Given the description of an element on the screen output the (x, y) to click on. 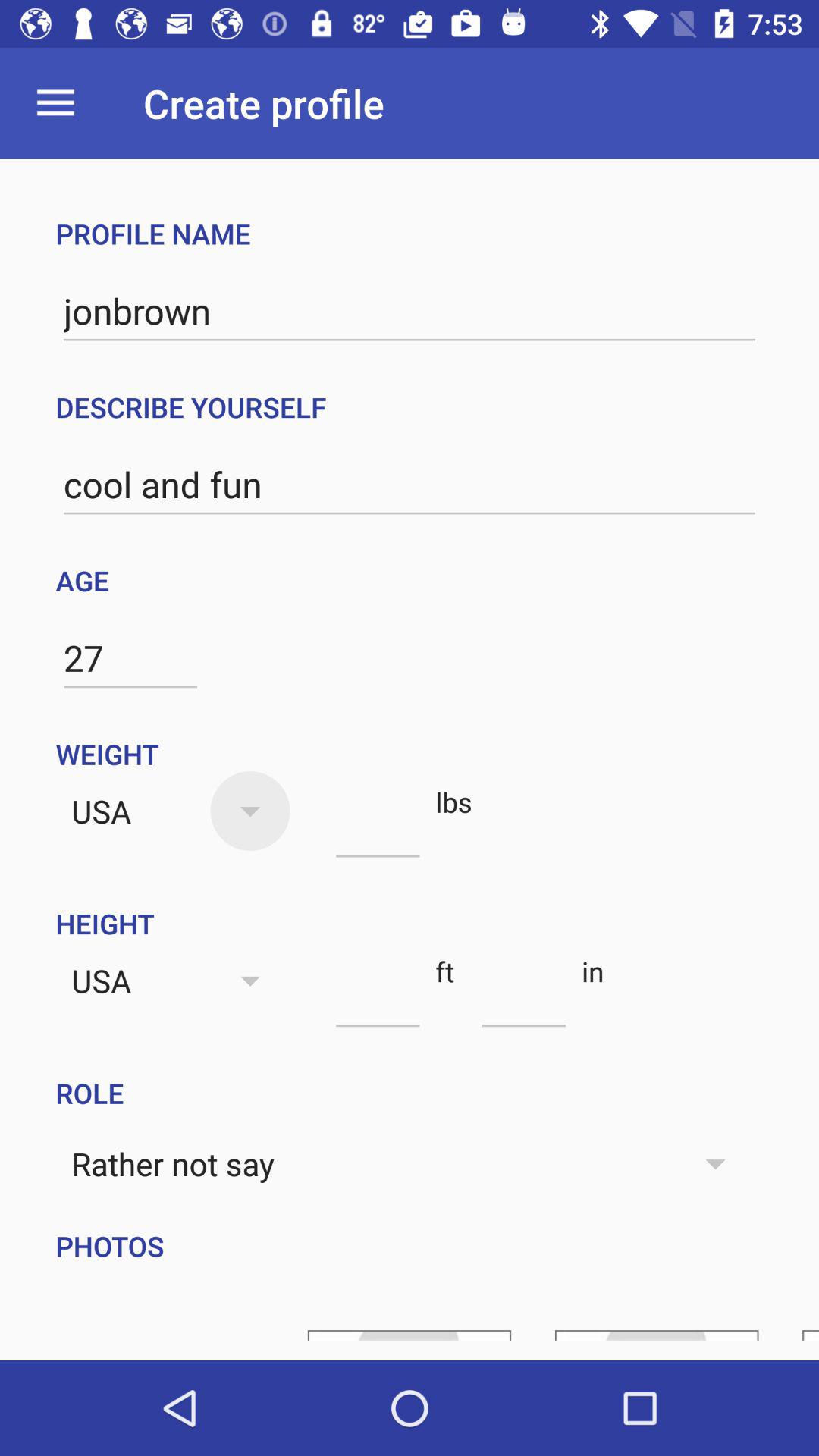
turn on the item to the right of the usa (377, 830)
